Given the description of an element on the screen output the (x, y) to click on. 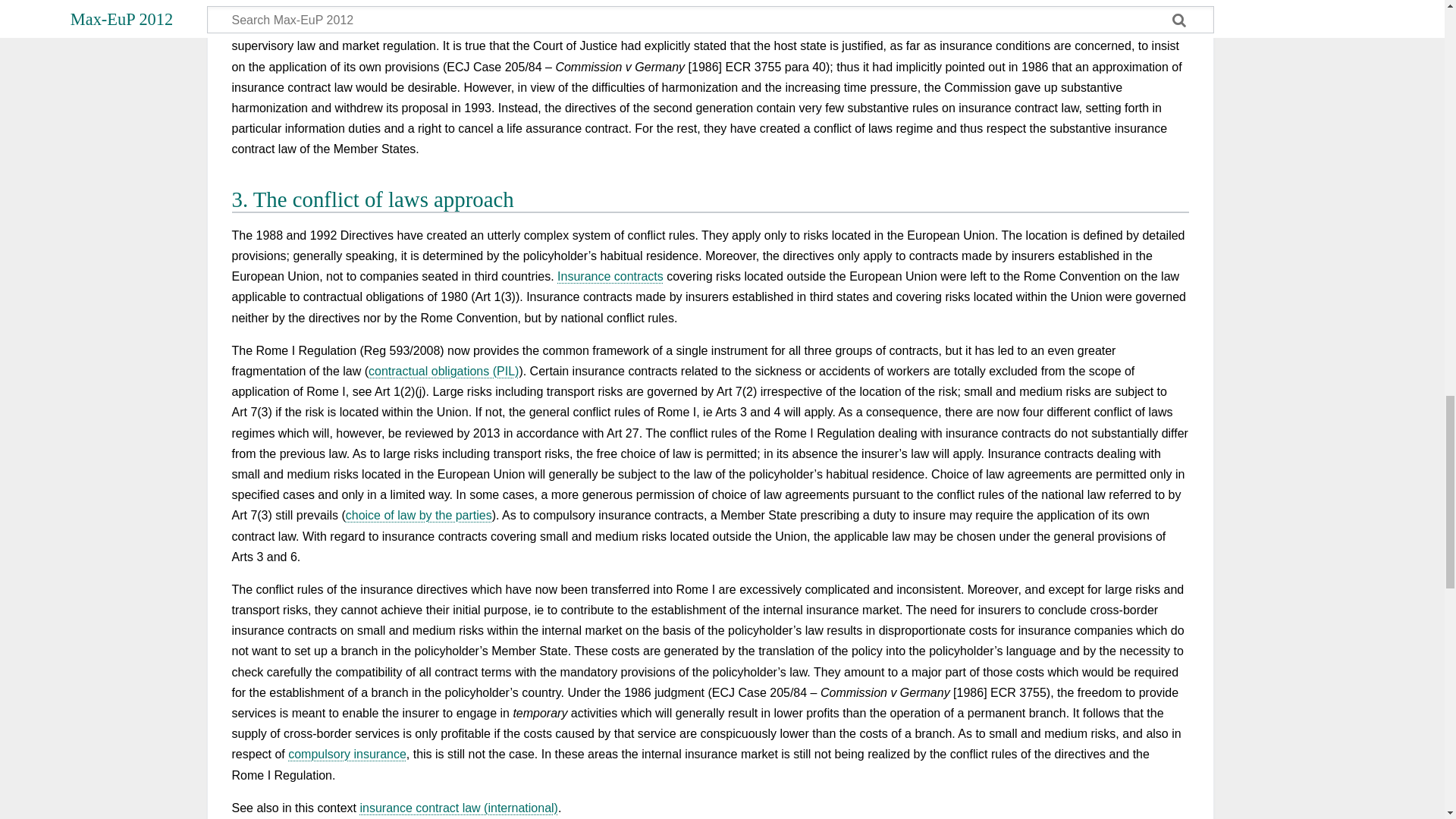
compulsory insurance (347, 753)
Insurance contracts (610, 276)
choice of law by the parties (419, 514)
